Given the description of an element on the screen output the (x, y) to click on. 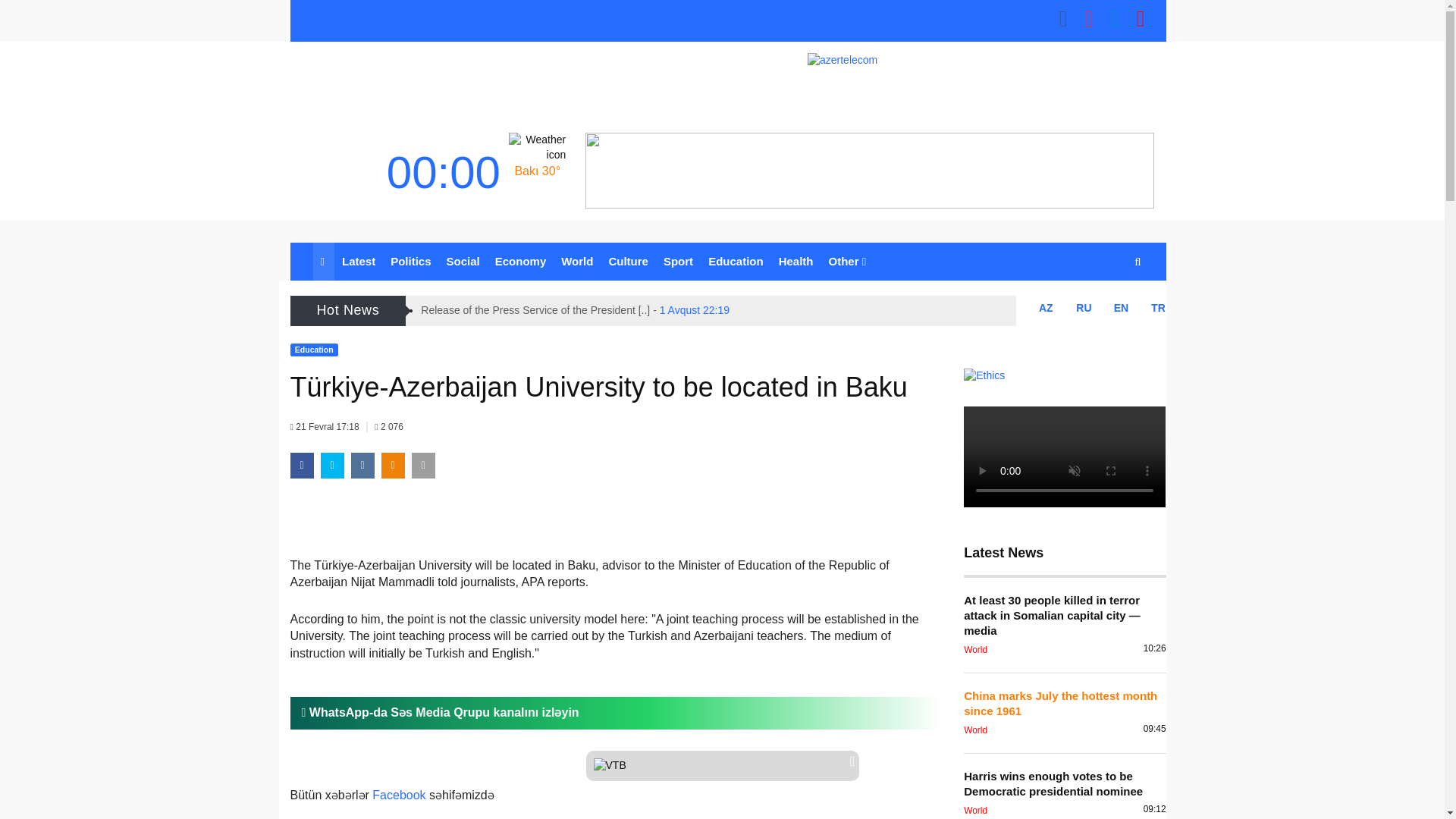
Politics (410, 261)
Economy (520, 261)
Latest (358, 261)
Sport (678, 261)
Other (847, 261)
Culture (627, 261)
Social (463, 261)
Health (796, 261)
Education (735, 261)
World (576, 261)
